Given the description of an element on the screen output the (x, y) to click on. 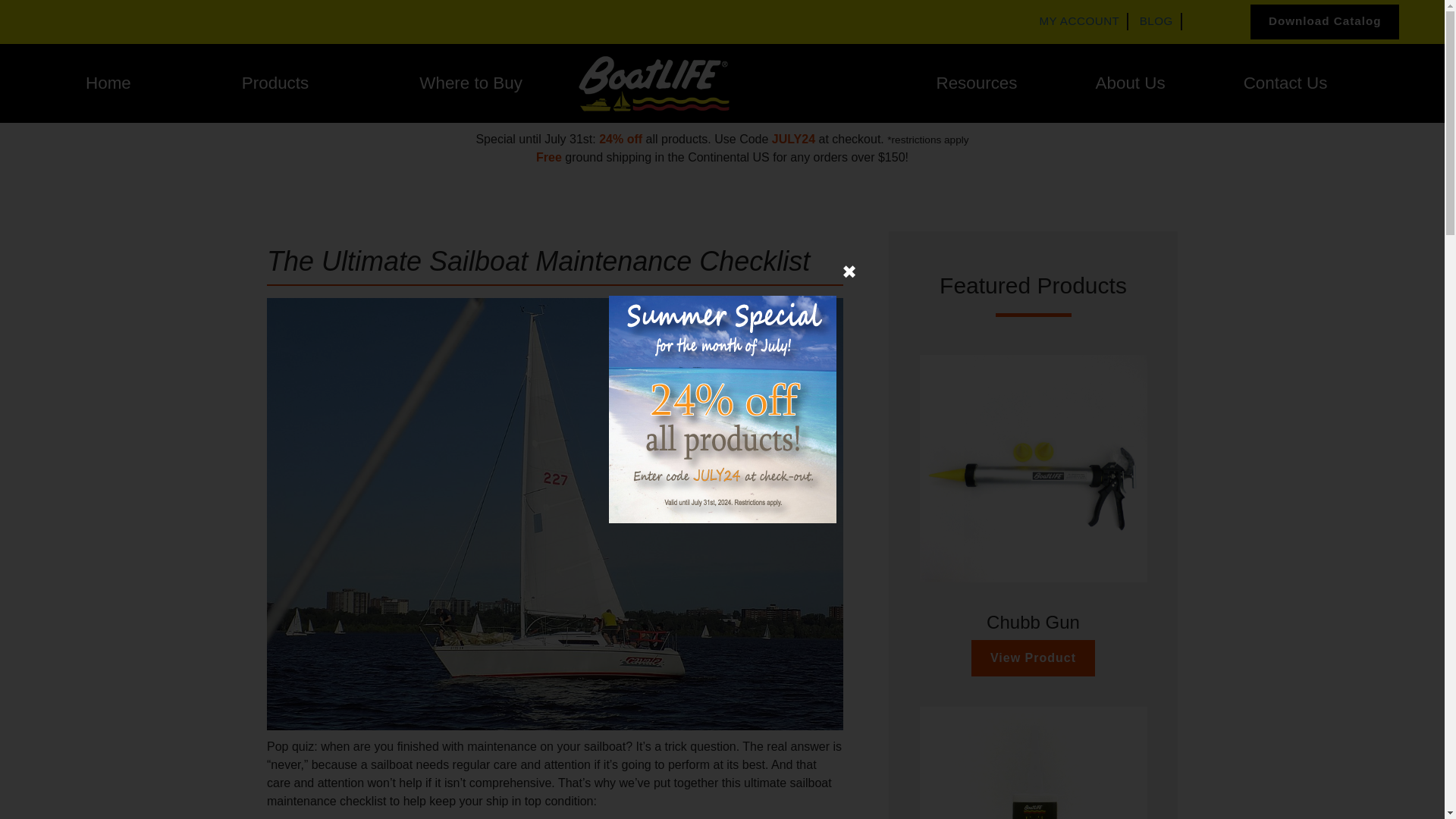
About Us (1131, 82)
Products (274, 82)
Home (108, 82)
Download Catalog (1324, 21)
Where to Buy (470, 82)
Search (326, 227)
Contact Us (1285, 82)
View Product (1032, 657)
BLOG (1156, 20)
Resources (976, 82)
MY ACCOUNT (1079, 20)
